Given the description of an element on the screen output the (x, y) to click on. 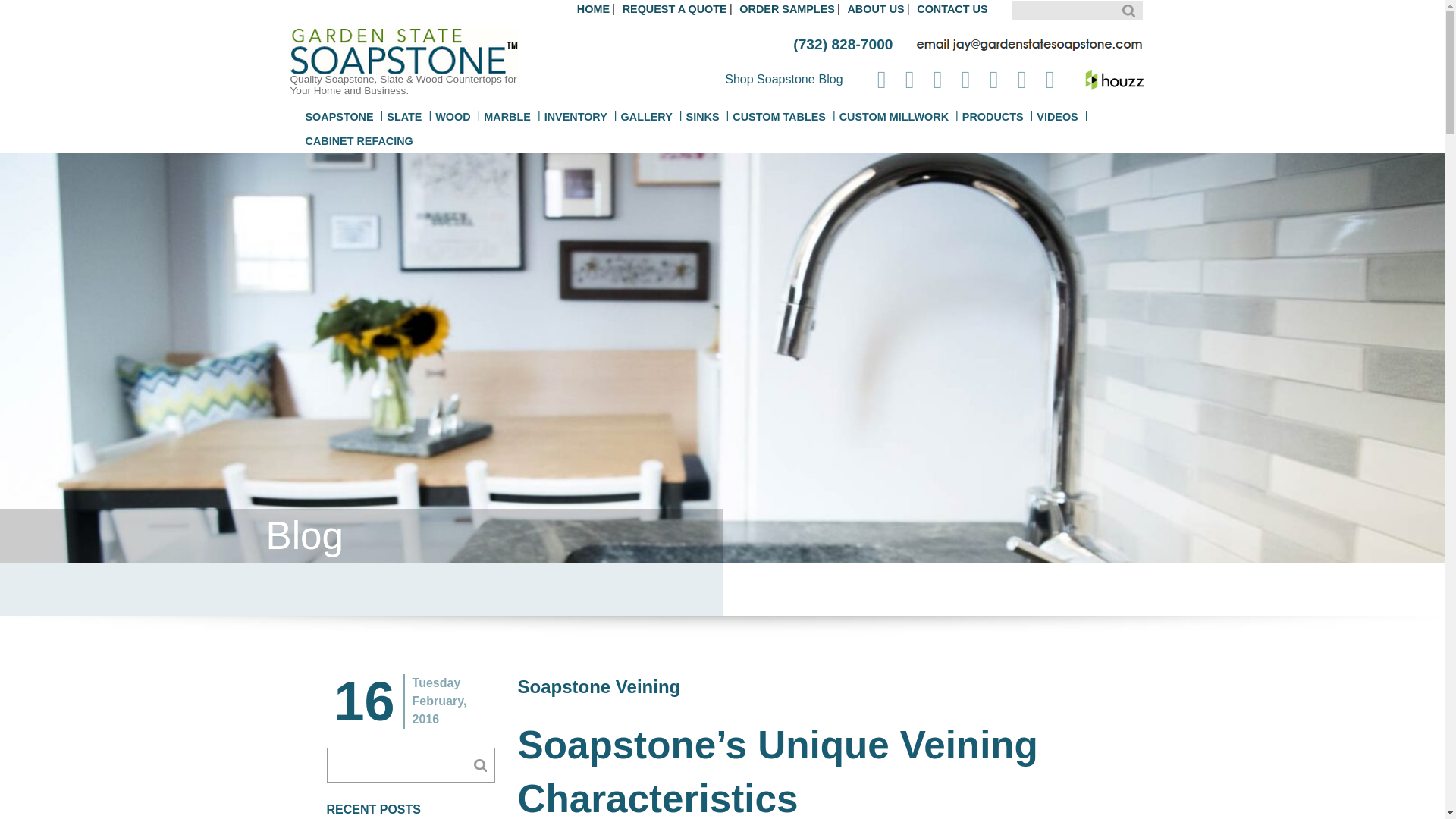
Shop Soapstone (769, 78)
ORDER SAMPLES (786, 9)
houzz (1113, 78)
YouTube (1050, 78)
LinkedIn (938, 78)
Facebook (881, 78)
Soapstone Veining (1113, 79)
SOAPSTONE (339, 117)
SLATE (403, 117)
Blog (830, 78)
